Given the description of an element on the screen output the (x, y) to click on. 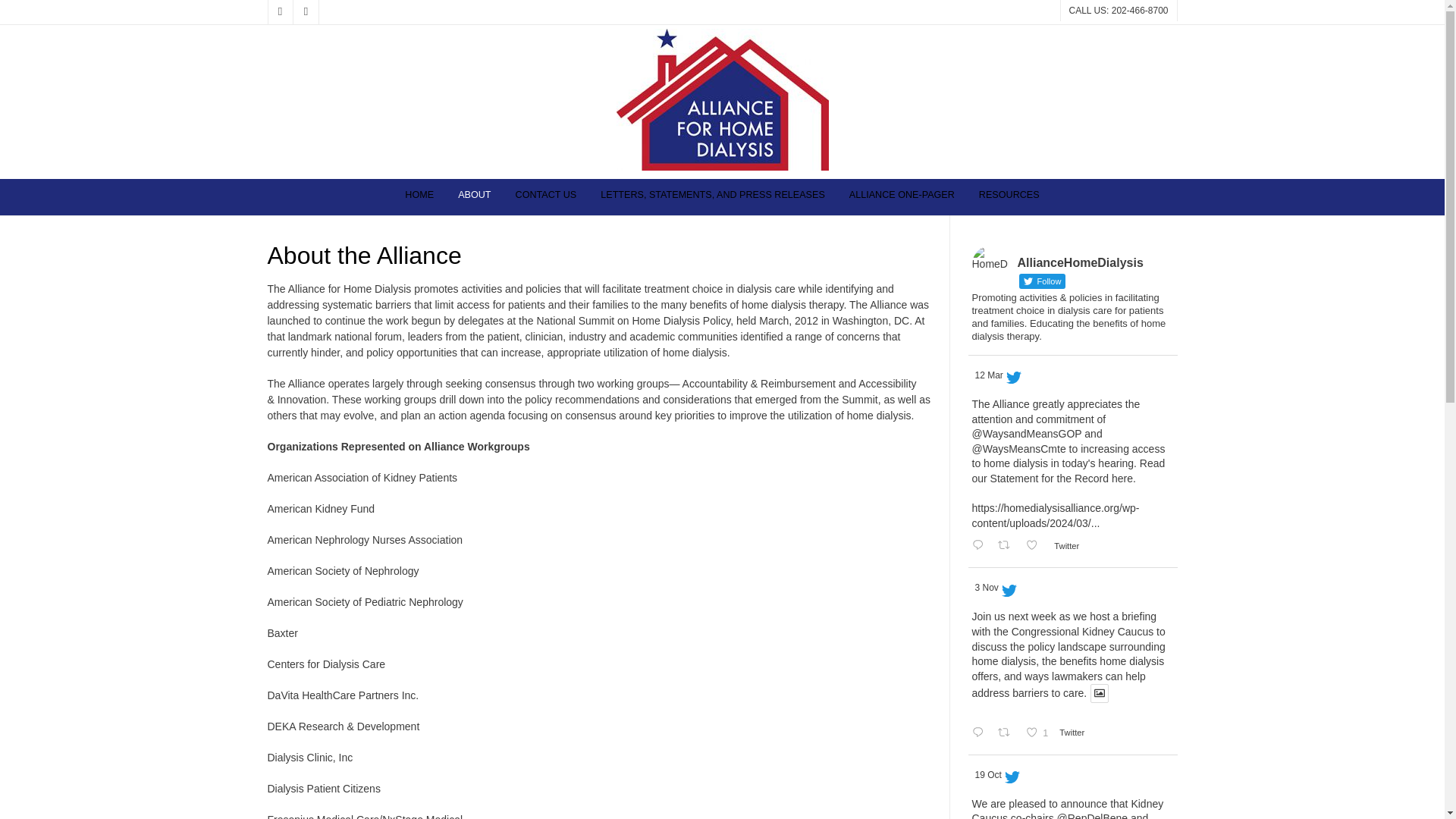
CONTACT US (546, 197)
ABOUT (473, 197)
Follow Us on Twitter (305, 12)
Reply on Twitter 1720505297465176517 (980, 732)
Like on Twitter 1767572202331775022 (1035, 546)
Retweet on Twitter 1767572202331775022 (1008, 546)
HOME (419, 197)
LETTERS, STATEMENTS, AND PRESS RELEASES (712, 197)
12 Mar (989, 375)
19 Oct (988, 774)
3 Nov (986, 587)
RESOURCES (1008, 197)
Send Us an Email (279, 12)
Reply on Twitter 1767572202331775022 (980, 546)
Retweet on Twitter 1720505297465176517 (1008, 732)
